Given the description of an element on the screen output the (x, y) to click on. 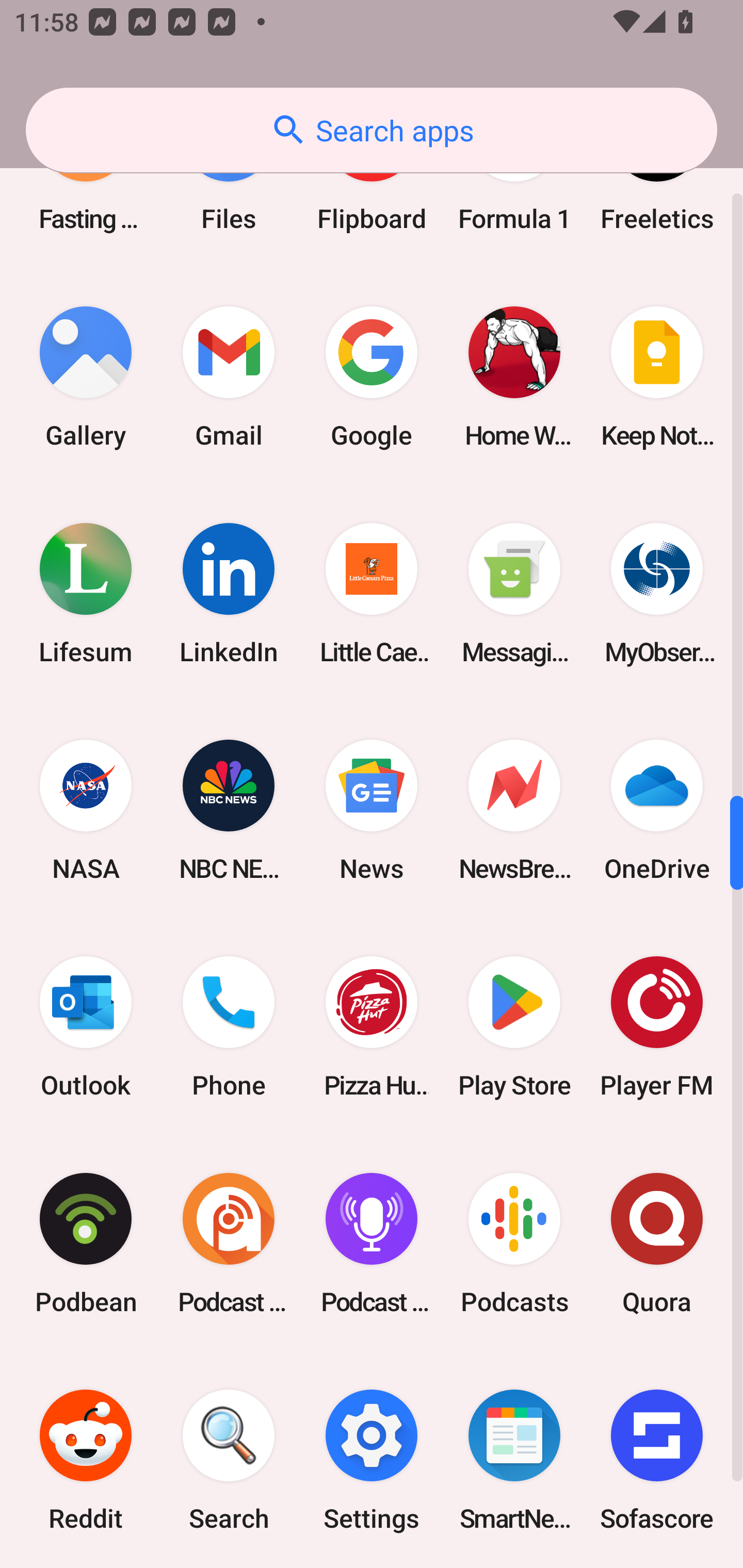
  Search apps (371, 130)
Gallery (85, 377)
Gmail (228, 377)
Google (371, 377)
Home Workout (514, 377)
Keep Notes (656, 377)
Lifesum (85, 594)
LinkedIn (228, 594)
Little Caesars Pizza (371, 594)
Messaging (514, 594)
MyObservatory (656, 594)
NASA (85, 810)
NBC NEWS (228, 810)
News (371, 810)
NewsBreak (514, 810)
OneDrive (656, 810)
Outlook (85, 1026)
Phone (228, 1026)
Pizza Hut HK & Macau (371, 1026)
Play Store (514, 1026)
Player FM (656, 1026)
Podbean (85, 1243)
Podcast Addict (228, 1243)
Podcast Player (371, 1243)
Podcasts (514, 1243)
Quora (656, 1243)
Reddit (85, 1459)
Search (228, 1459)
Settings (371, 1459)
SmartNews (514, 1459)
Sofascore (656, 1459)
